Given the description of an element on the screen output the (x, y) to click on. 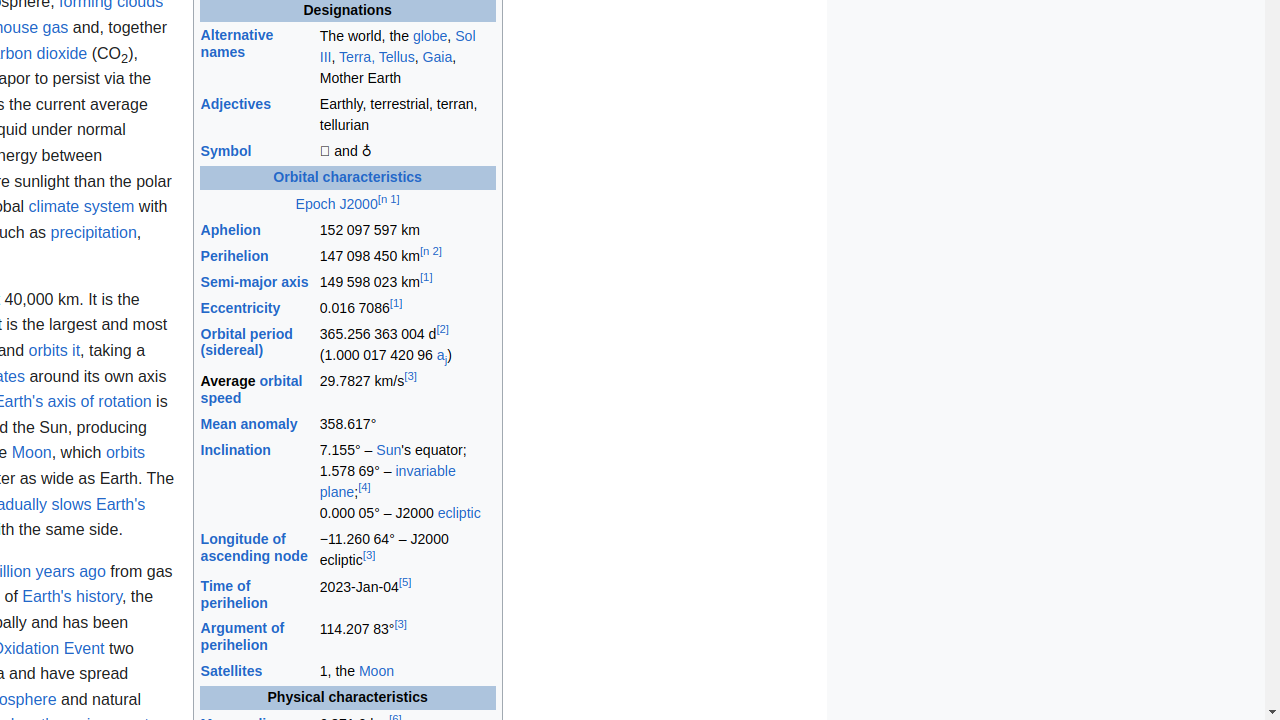
Adjectives Element type: link (235, 104)
Time of perihelion Element type: link (234, 594)
orbits it Element type: link (54, 351)
Aphelion Element type: link (230, 229)
Perihelion Element type: link (234, 255)
